Given the description of an element on the screen output the (x, y) to click on. 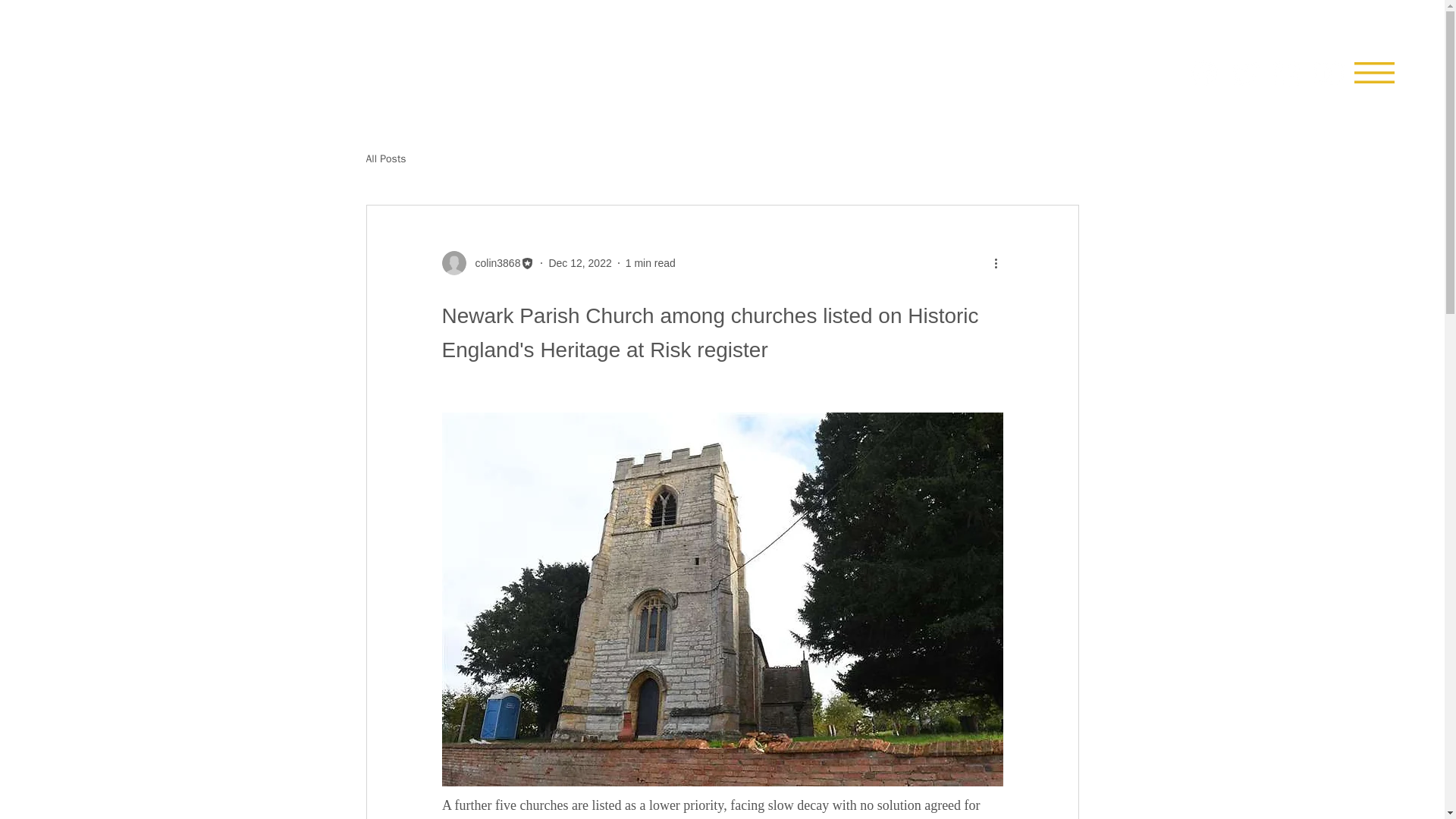
colin3868 (487, 262)
1 min read (650, 262)
Dec 12, 2022 (579, 262)
colin3868 (492, 262)
All Posts (385, 159)
